Given the description of an element on the screen output the (x, y) to click on. 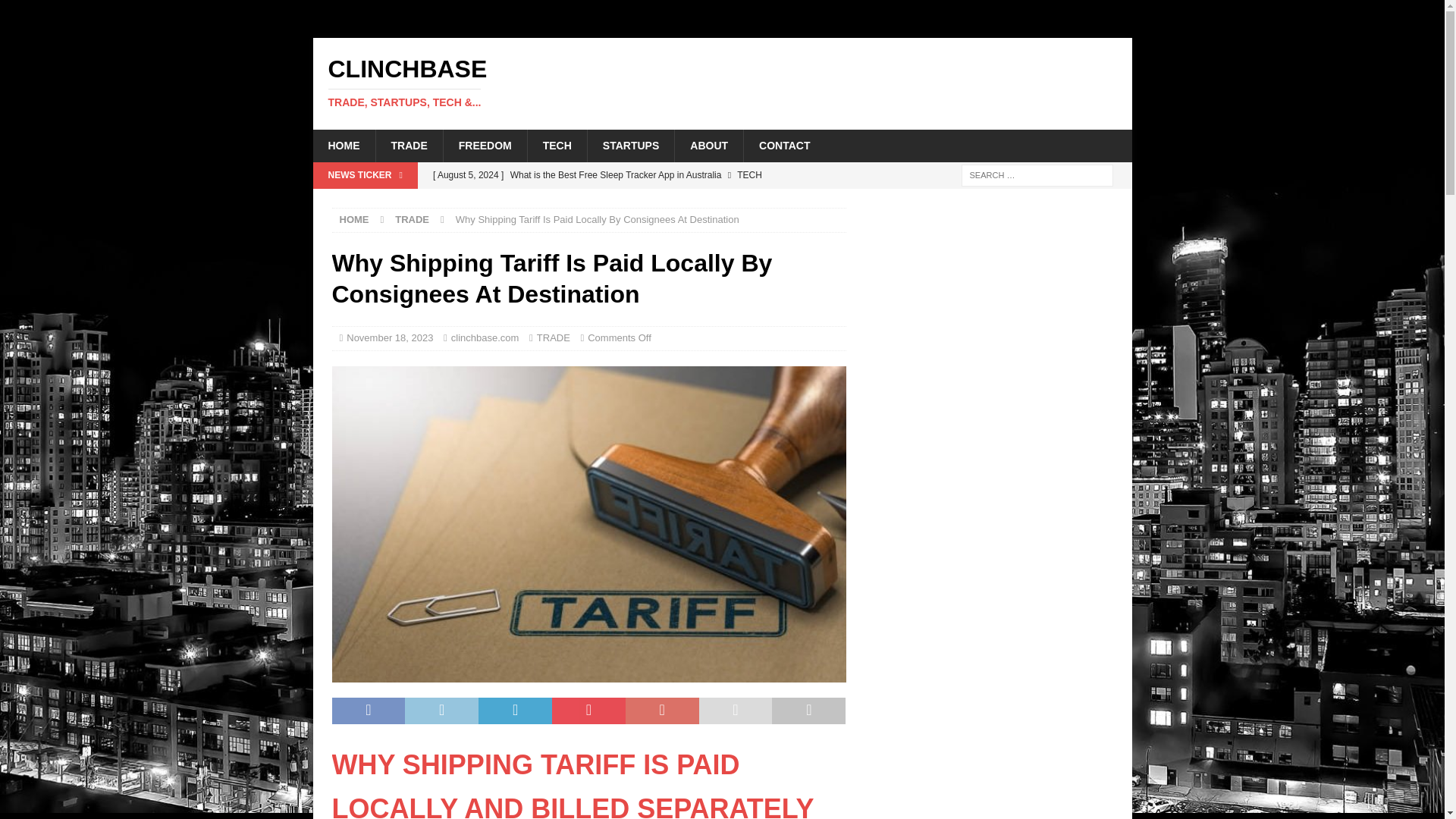
HOME (354, 219)
TRADE (408, 145)
ABOUT (708, 145)
ClinchBase (721, 82)
TECH (556, 145)
TRADE (411, 219)
Search (56, 11)
CONTACT (783, 145)
TRADE (553, 337)
FREEDOM (484, 145)
